Given the description of an element on the screen output the (x, y) to click on. 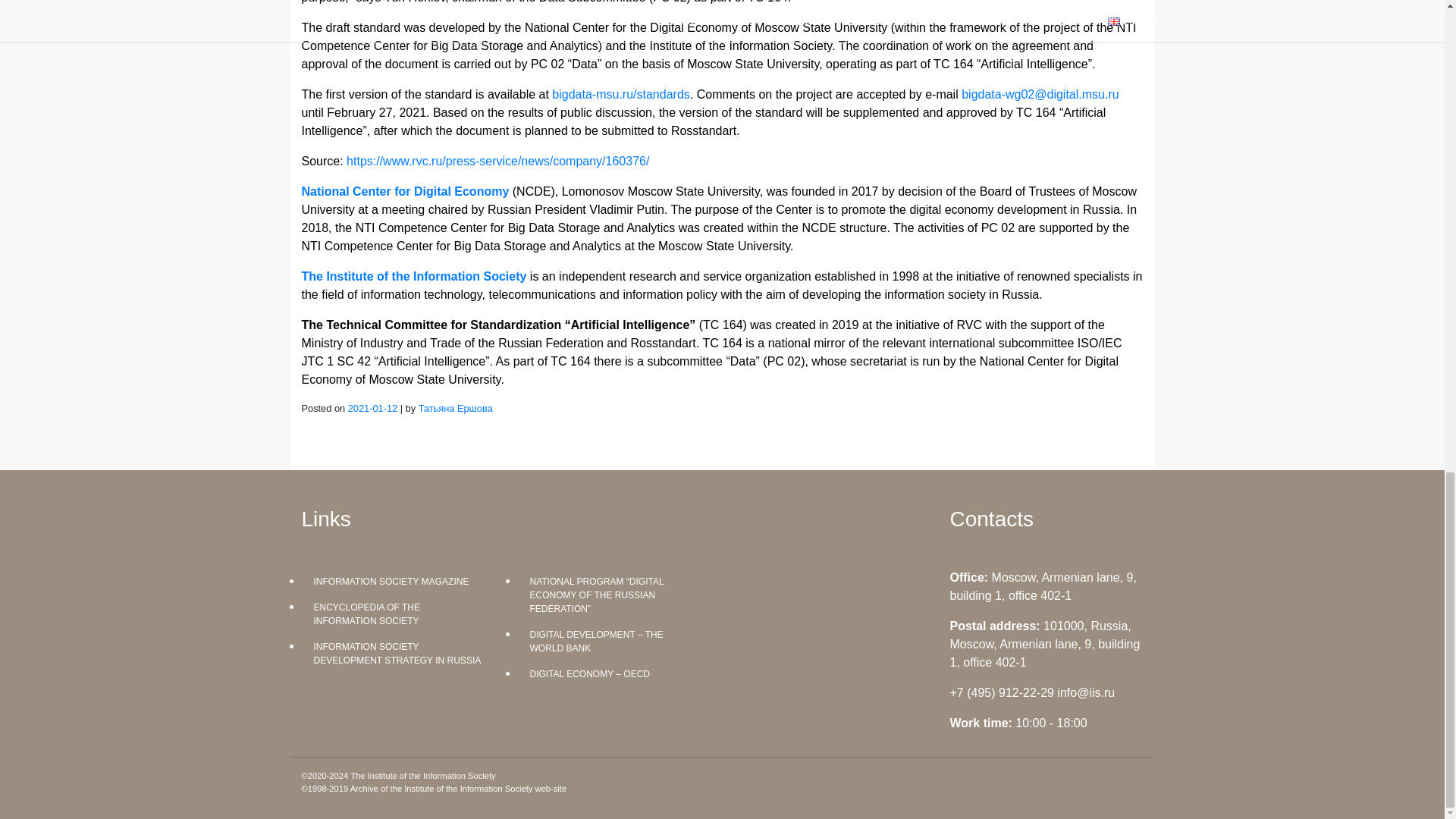
ENCYCLOPEDIA OF THE INFORMATION SOCIETY (398, 613)
Archive of the Institute of the Information Society web-site (458, 788)
Digital Development - The World Bank (613, 640)
National Center for Digital Economy (405, 191)
INFORMATION SOCIETY MAGAZINE (398, 581)
Digital Economy - OECD (613, 673)
INFORMATION SOCIETY DEVELOPMENT STRATEGY IN RUSSIA (398, 653)
Information Society Development Strategy in Russia (398, 653)
Information Society Magazine (398, 581)
2021-01-12 (372, 408)
